Given the description of an element on the screen output the (x, y) to click on. 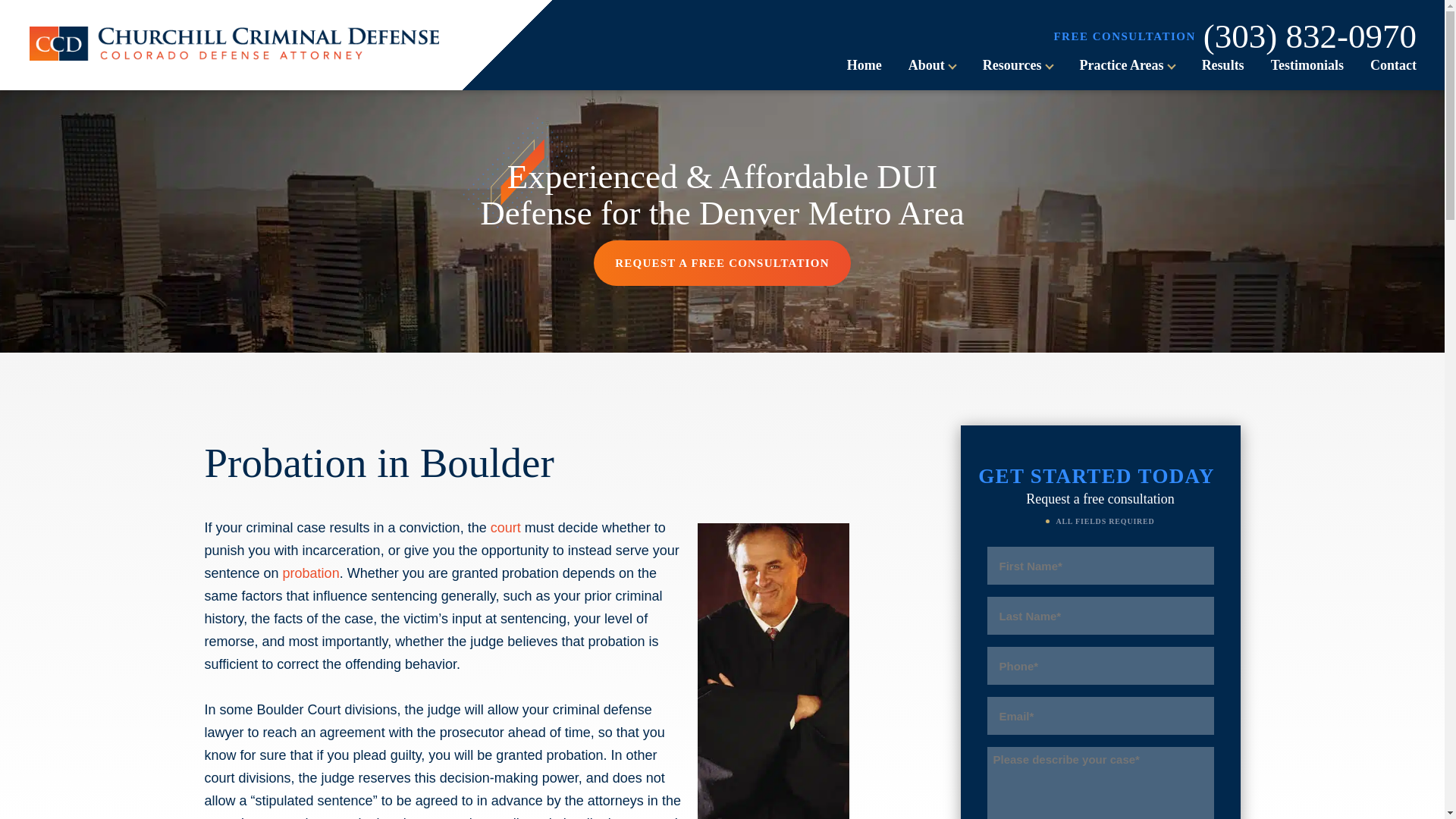
Probation (310, 572)
Contact (1393, 65)
Court (505, 527)
About (926, 65)
probation (310, 572)
Testimonials (1307, 65)
Practice Areas (1121, 65)
Results (1223, 65)
REQUEST A FREE CONSULTATION (722, 262)
Home (864, 65)
